Given the description of an element on the screen output the (x, y) to click on. 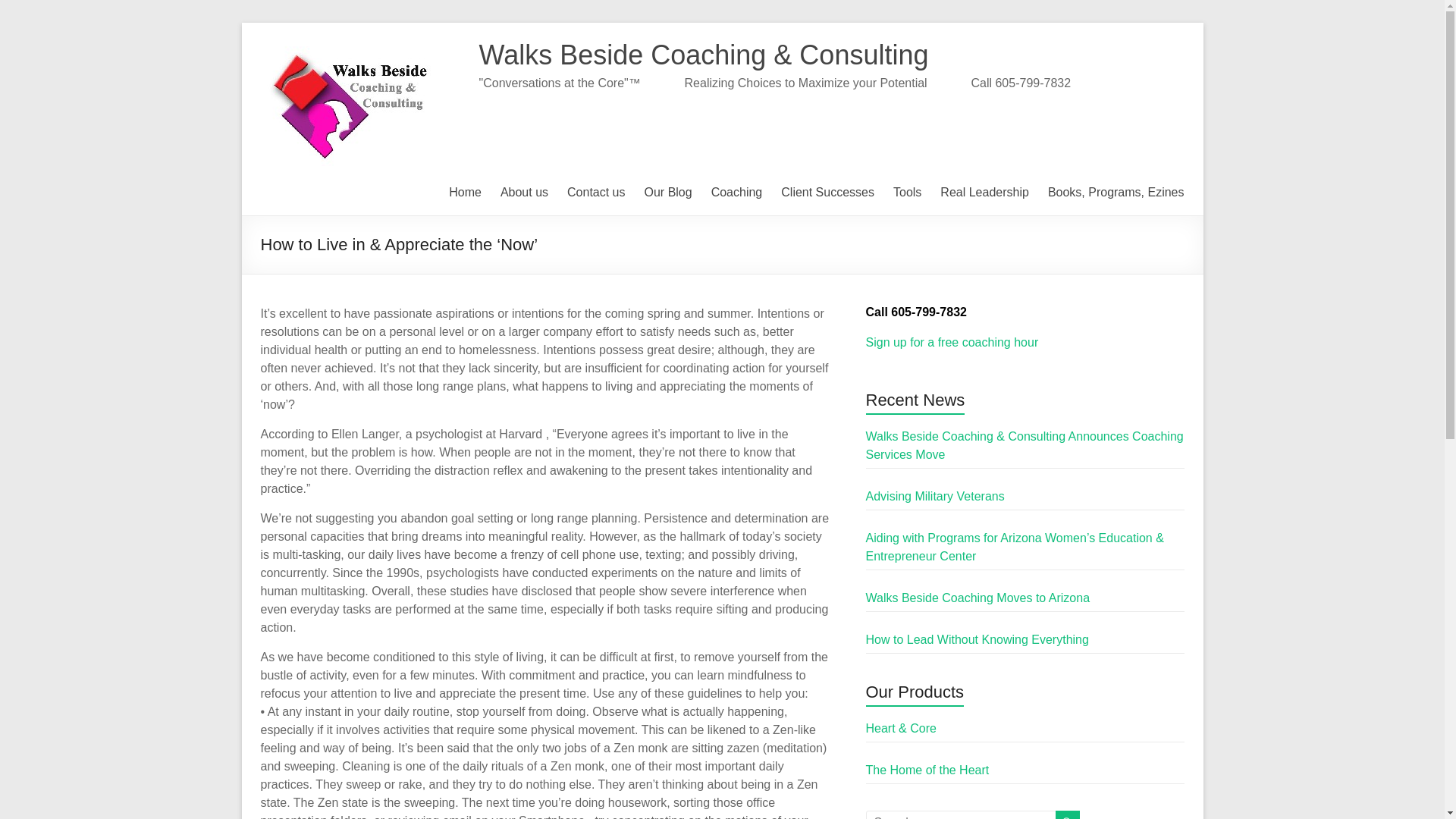
Coaching (736, 191)
Real Leadership (984, 191)
Sign up for a free coaching hour (952, 341)
Client Successes (827, 191)
Books, Programs, Ezines (1116, 191)
How to Lead Without Knowing Everything (977, 639)
About us (524, 191)
Our Blog (669, 191)
Walks Beside Coaching Moves to Arizona (978, 597)
